Given the description of an element on the screen output the (x, y) to click on. 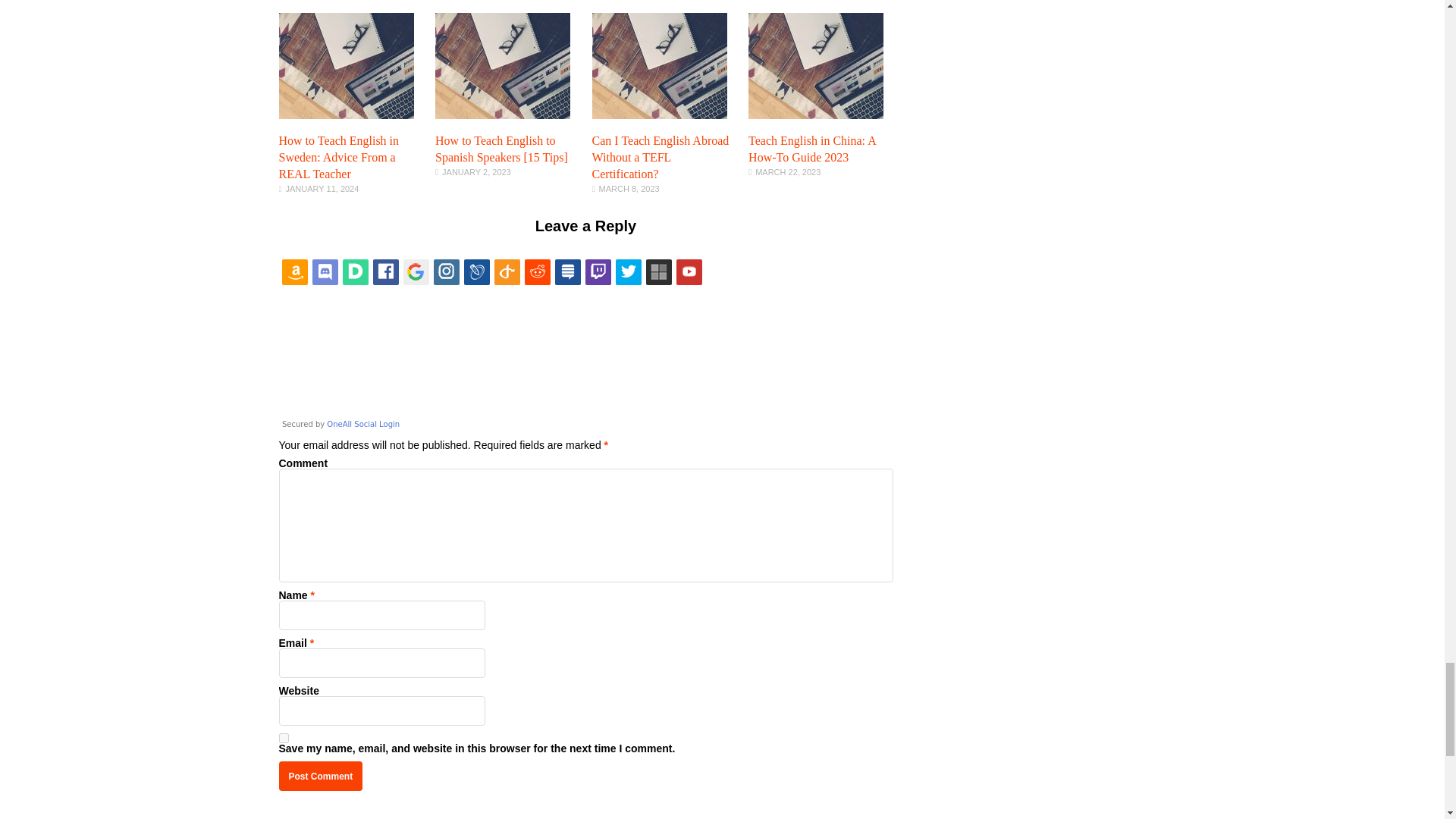
Teach English in China: A How-To Guide 2023 (812, 148)
Can I Teach English Abroad Without a TEFL Certification? (659, 114)
Login with Social Networks (586, 343)
yes (283, 737)
Post Comment (320, 776)
How to Teach English in Sweden: Advice From a REAL Teacher (346, 114)
How to Teach English in Sweden: Advice From a REAL Teacher (338, 157)
Teach English in China: A How-To Guide 2023 (815, 114)
How to Teach English in Sweden: Advice From a REAL Teacher (338, 157)
Can I Teach English Abroad Without a TEFL Certification? (660, 157)
